Given the description of an element on the screen output the (x, y) to click on. 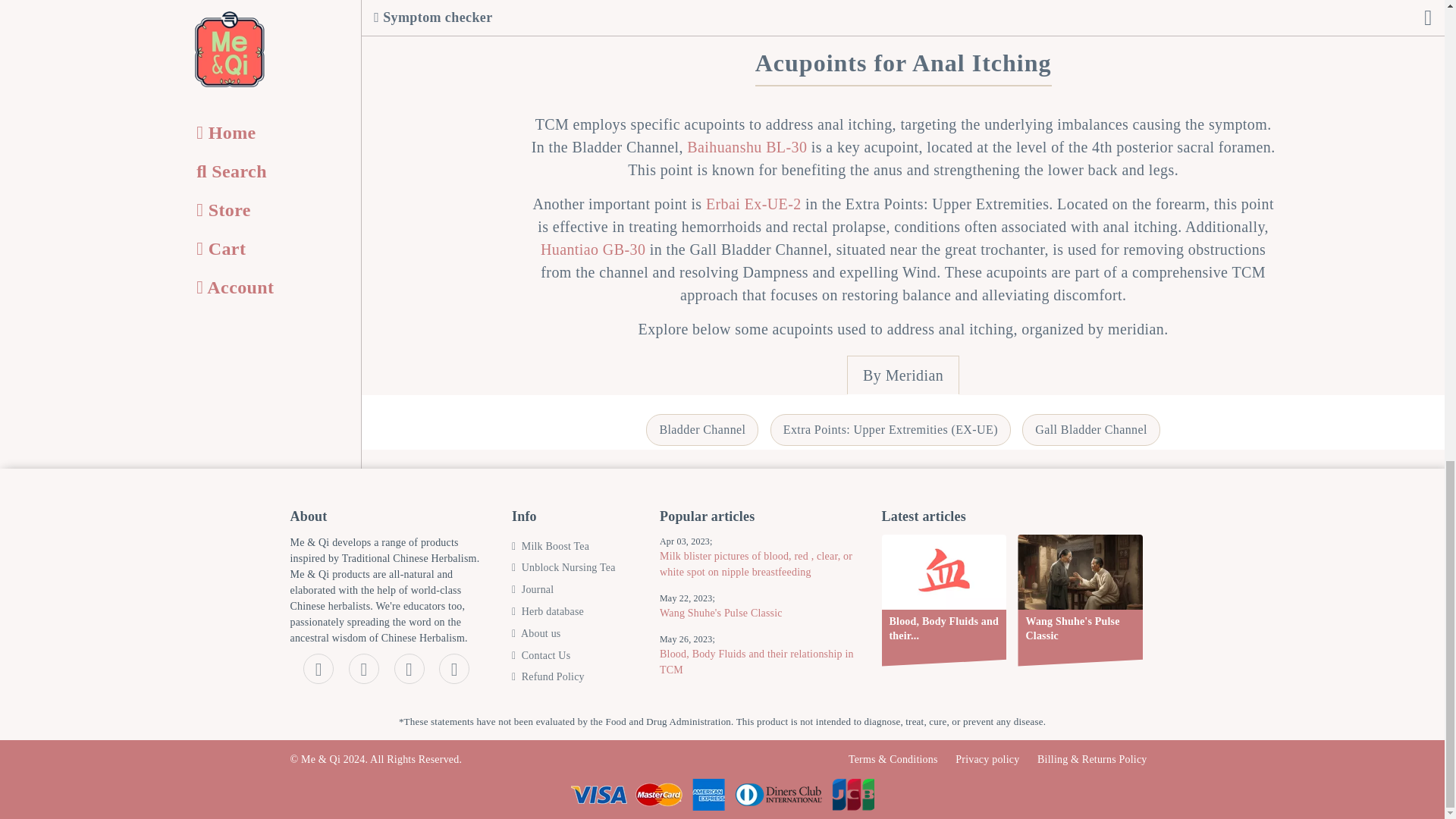
Wang Shuhe's Pulse Classic (1079, 600)
  About us (536, 639)
Erbai Ex-UE-2 (754, 203)
Wang Shuhe's Pulse Classic (759, 618)
  Unblock Nursing Tea (563, 573)
Blood, Body Fluids and their relationship in TCM (759, 667)
Privacy policy (986, 758)
Wang Shuhe's Pulse Classic (1079, 600)
Huantiao GB-30 (592, 248)
Blood, Body Fluids and their... (943, 600)
